Given the description of an element on the screen output the (x, y) to click on. 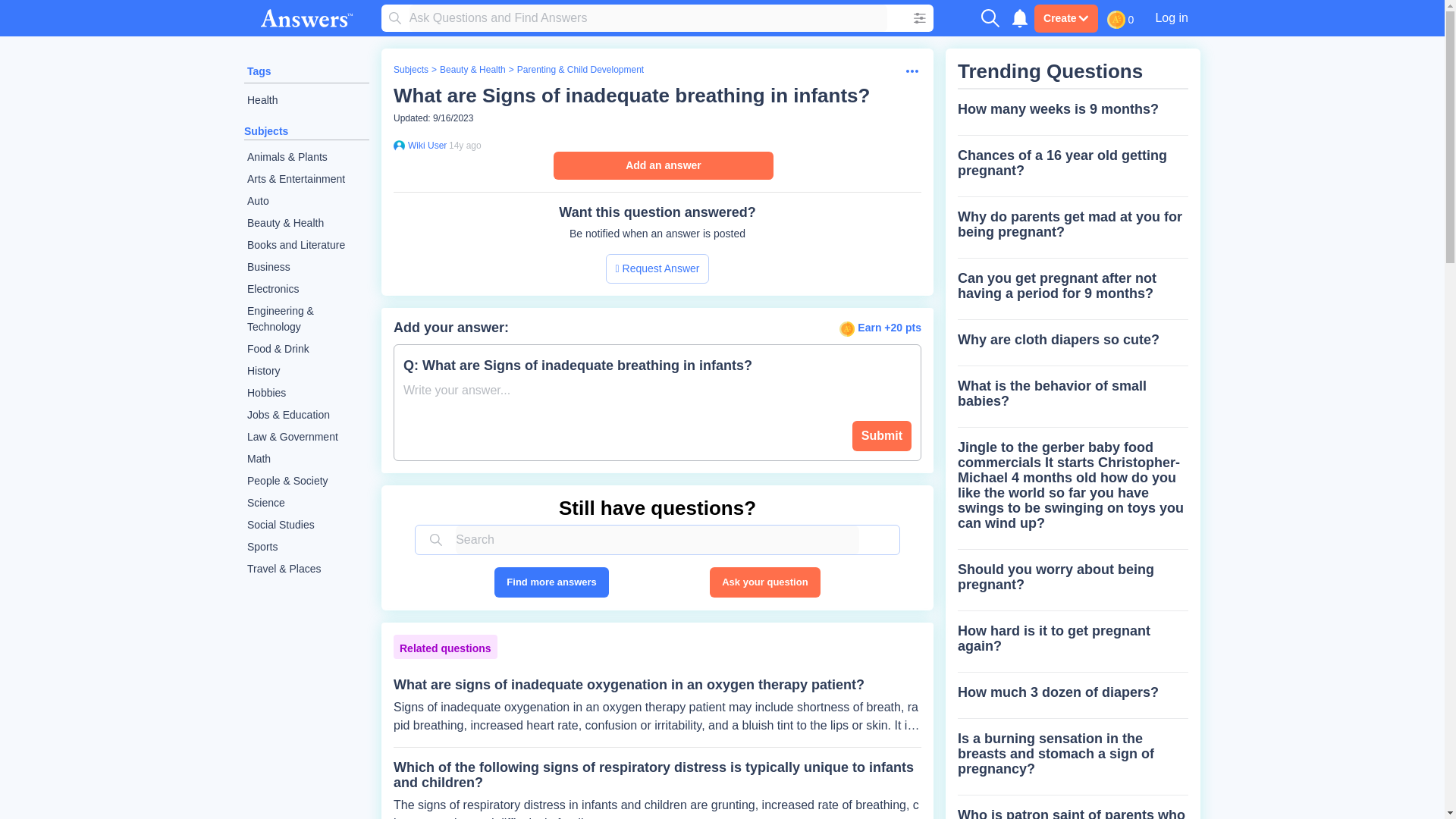
What are Signs of inadequate breathing in infants? (631, 95)
2009-10-02 18:50:24 (464, 145)
History (306, 371)
Tags (258, 70)
Math (306, 458)
Health (306, 100)
Electronics (306, 289)
Create (1065, 18)
